Given the description of an element on the screen output the (x, y) to click on. 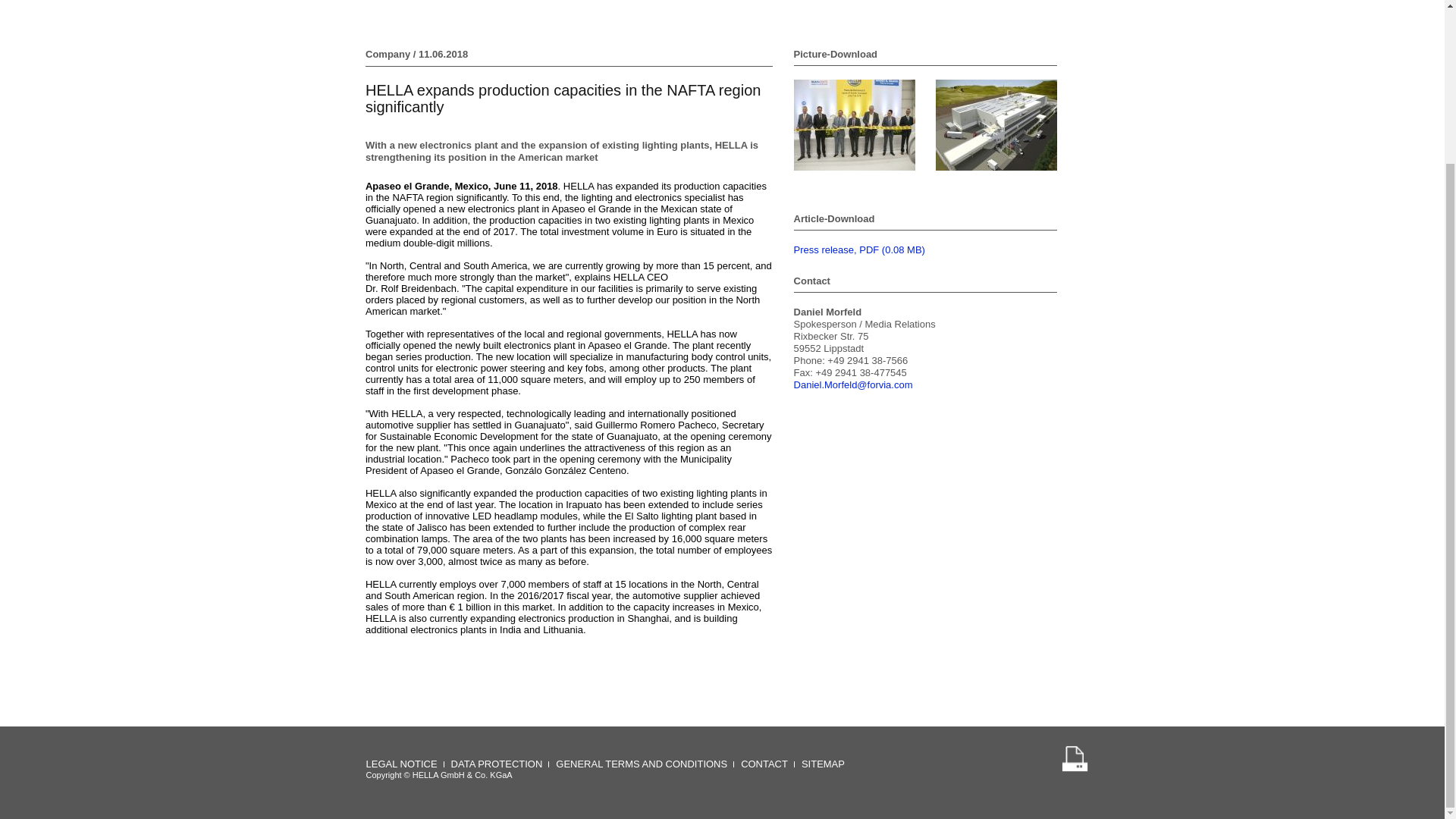
CONTACT (764, 763)
GENERAL TERMS AND CONDITIONS (641, 763)
DATA PROTECTION (497, 763)
LEGAL NOTICE (402, 763)
SITEMAP (823, 763)
